Given the description of an element on the screen output the (x, y) to click on. 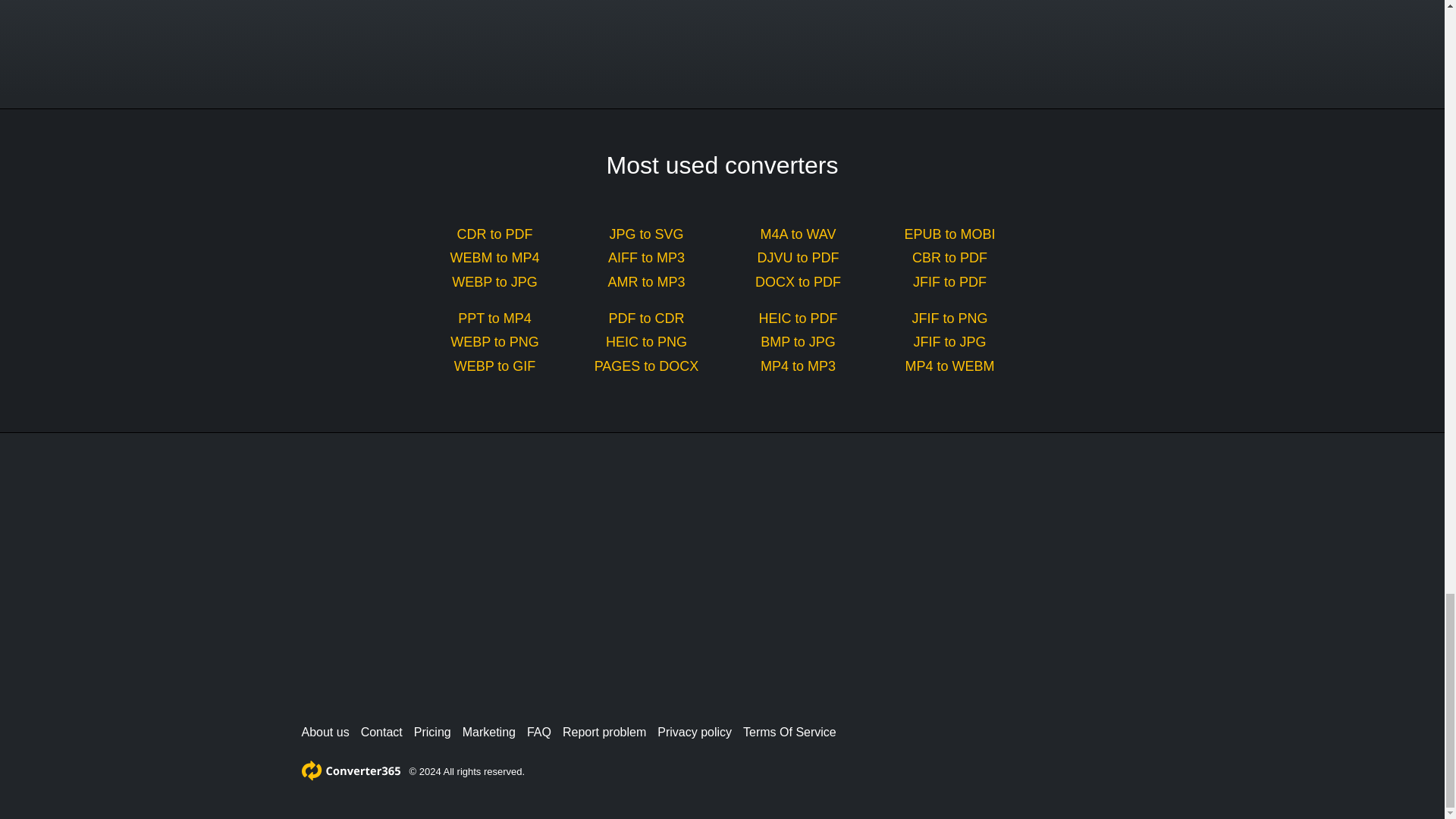
Converter365 (350, 770)
